Given the description of an element on the screen output the (x, y) to click on. 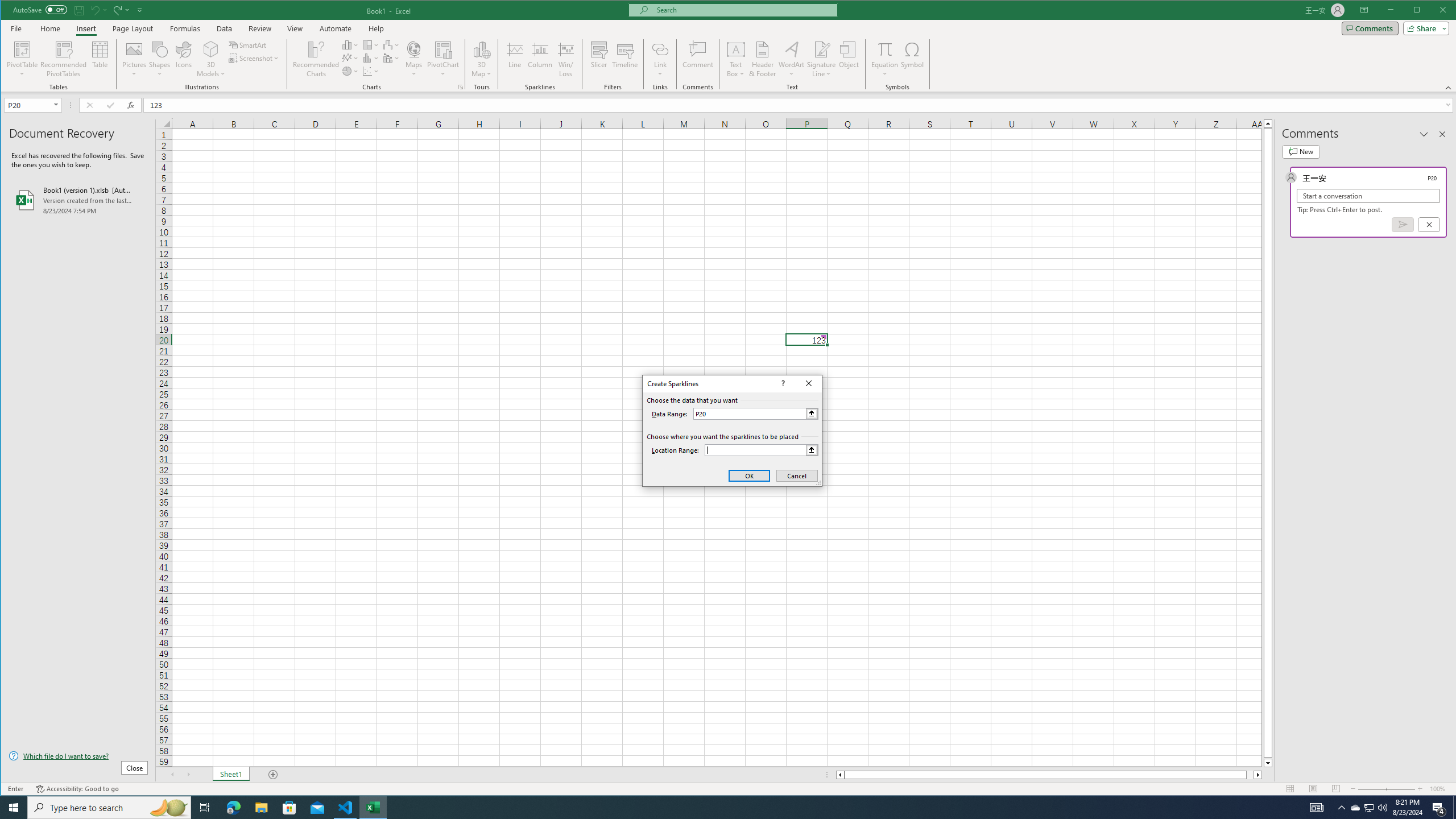
PivotTable (22, 48)
Location Range (761, 449)
Signature Line (821, 48)
OK (749, 475)
Comment (697, 59)
Shapes (159, 59)
New comment (1300, 151)
Insert Combo Chart (391, 57)
3D Models (211, 48)
Link (659, 59)
